Given the description of an element on the screen output the (x, y) to click on. 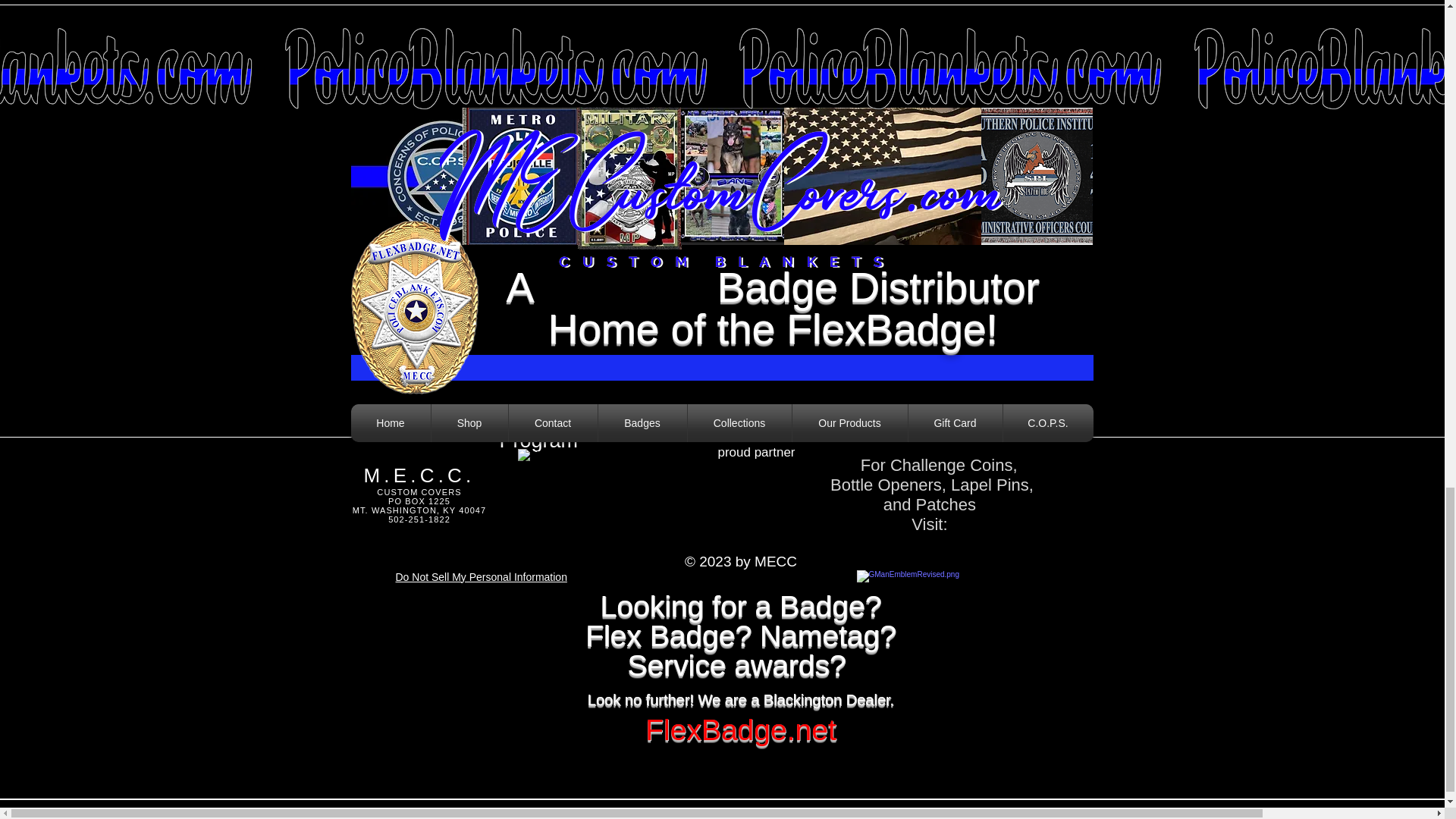
CUSTOM COVERS (419, 491)
Do Not Sell My Personal Information (481, 577)
M.E.C.C. (418, 475)
